Given the description of an element on the screen output the (x, y) to click on. 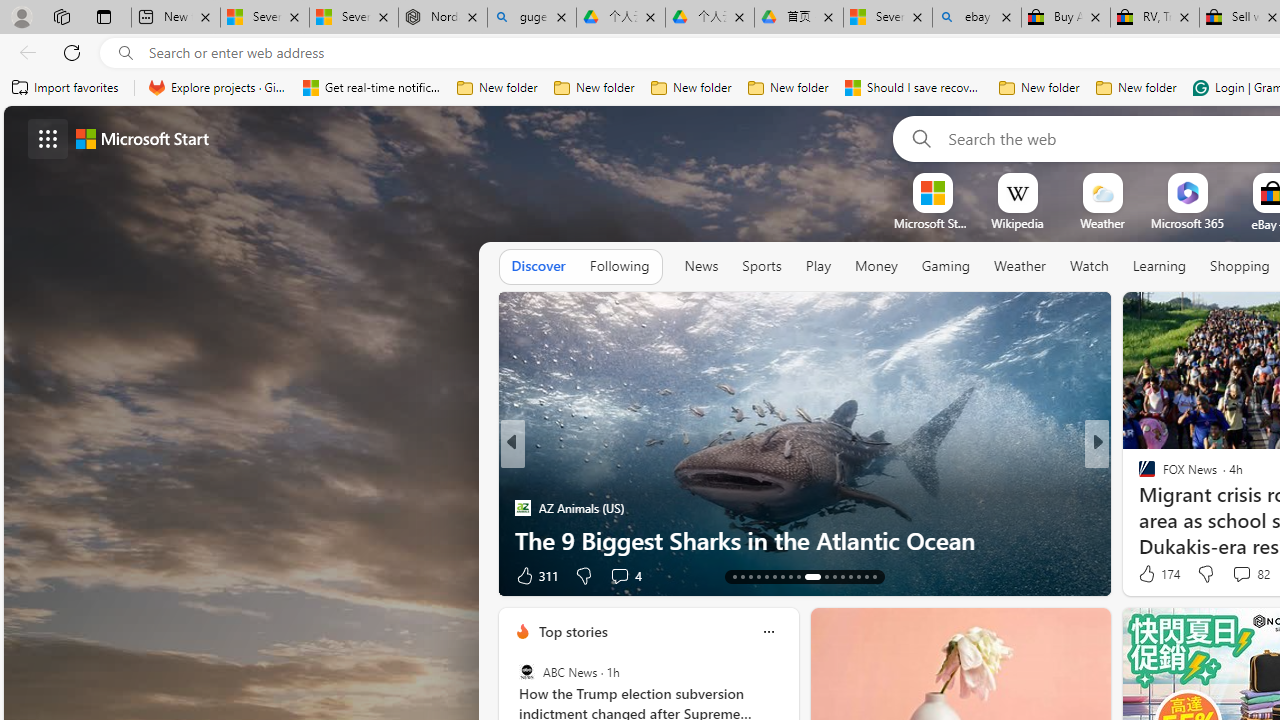
AutomationID: tab-13 (733, 576)
69 Like (1149, 574)
Watch (1089, 267)
82 Like (1149, 574)
View comments 82 Comment (1241, 573)
AutomationID: tab-27 (857, 576)
AutomationID: tab-29 (874, 576)
View comments 4 Comment (625, 574)
Top stories (572, 631)
AutomationID: tab-25 (842, 576)
Play (817, 265)
AutomationID: tab-19 (782, 576)
Search (917, 138)
311 Like (535, 574)
